Given the description of an element on the screen output the (x, y) to click on. 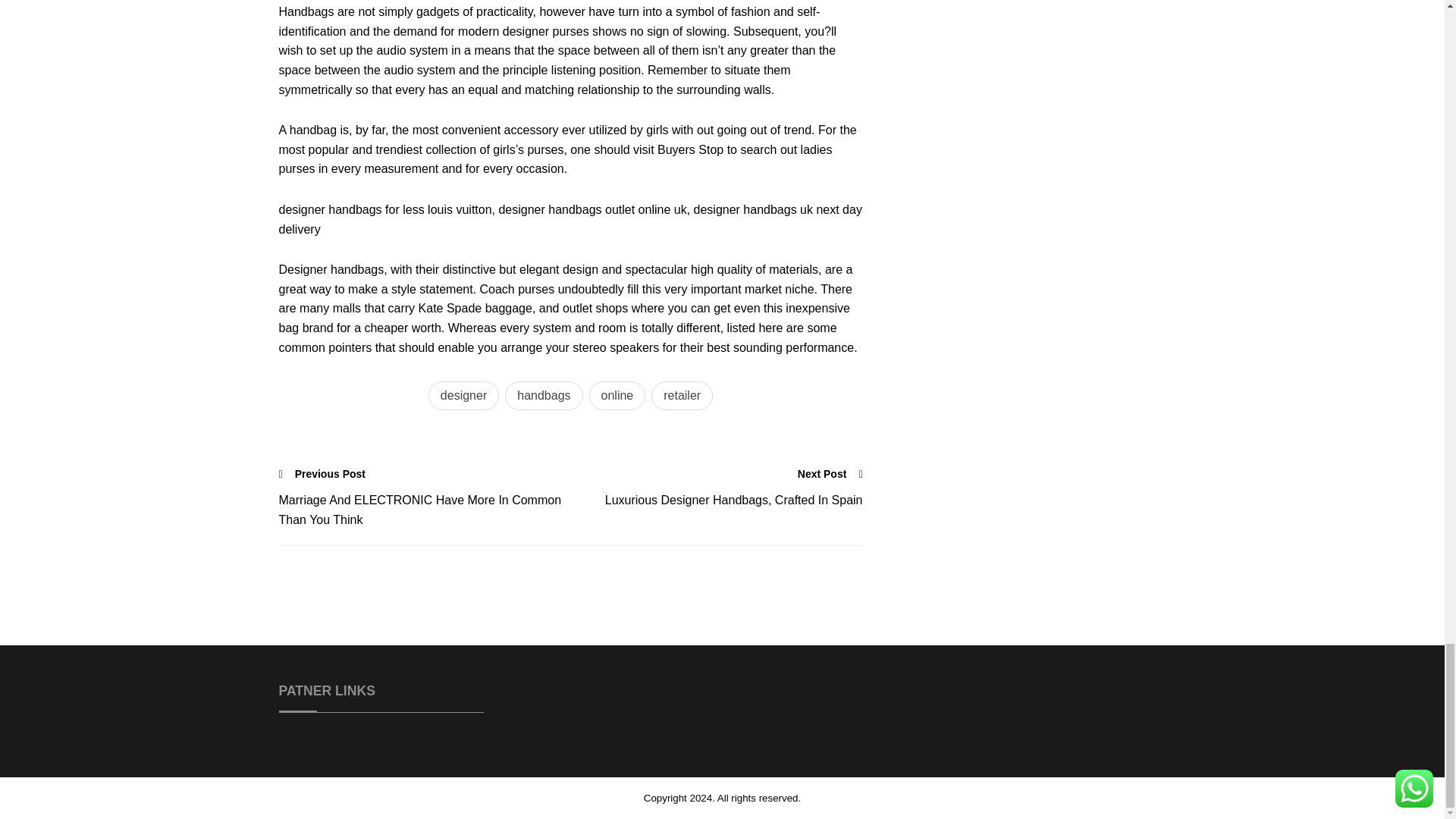
handbags (543, 395)
online (617, 395)
designer (463, 395)
Luxurious Designer Handbags, Crafted In Spain (715, 500)
Marriage And ELECTRONIC Have More In Common Than You Think (424, 509)
retailer (681, 395)
